Given the description of an element on the screen output the (x, y) to click on. 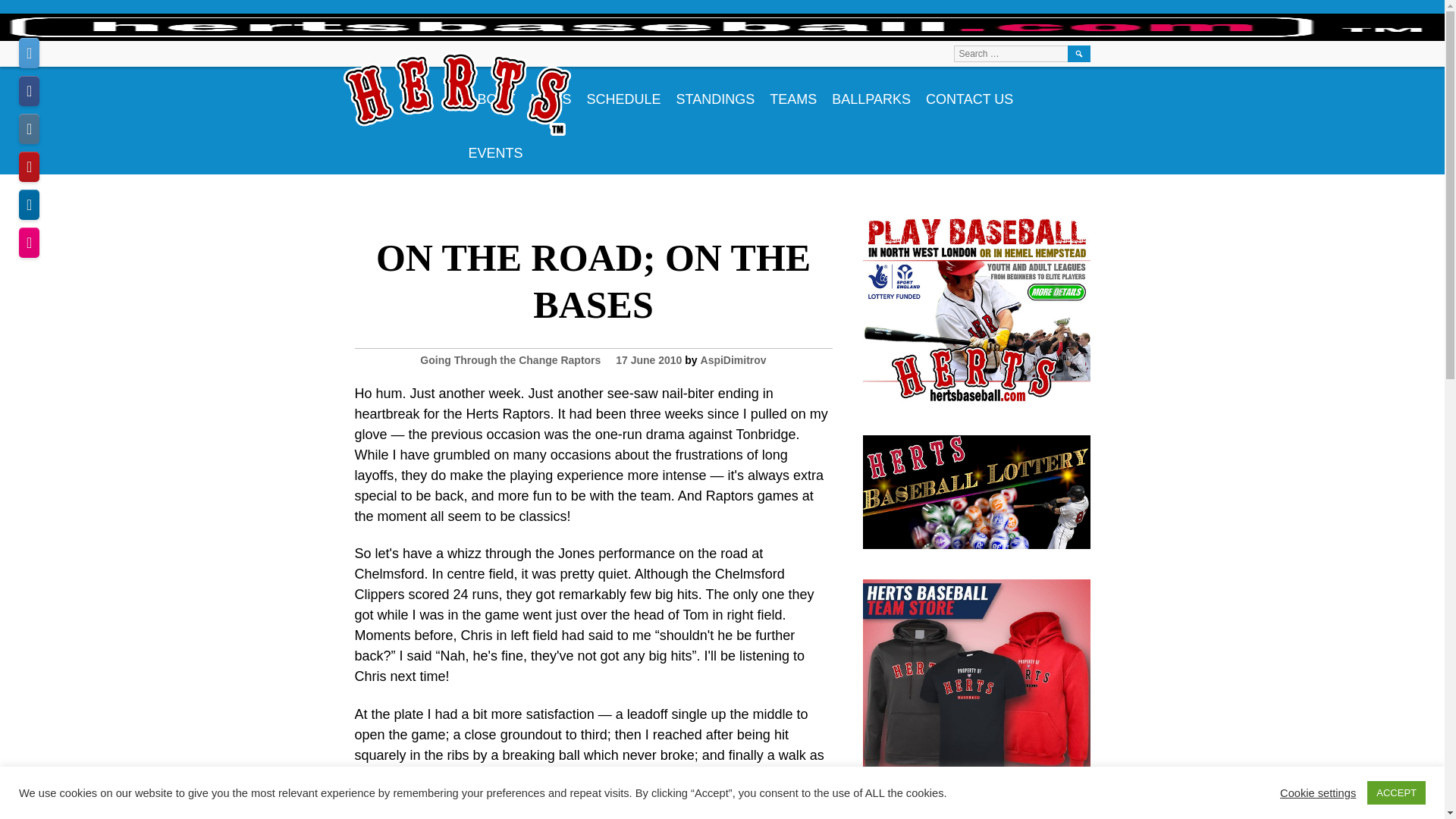
ABOUT (491, 93)
TEAMS (792, 93)
NEWS (550, 93)
Search (1078, 53)
CONTACT US (969, 93)
BALLPARKS (871, 93)
SCHEDULE (623, 93)
STANDINGS (715, 93)
